Given the description of an element on the screen output the (x, y) to click on. 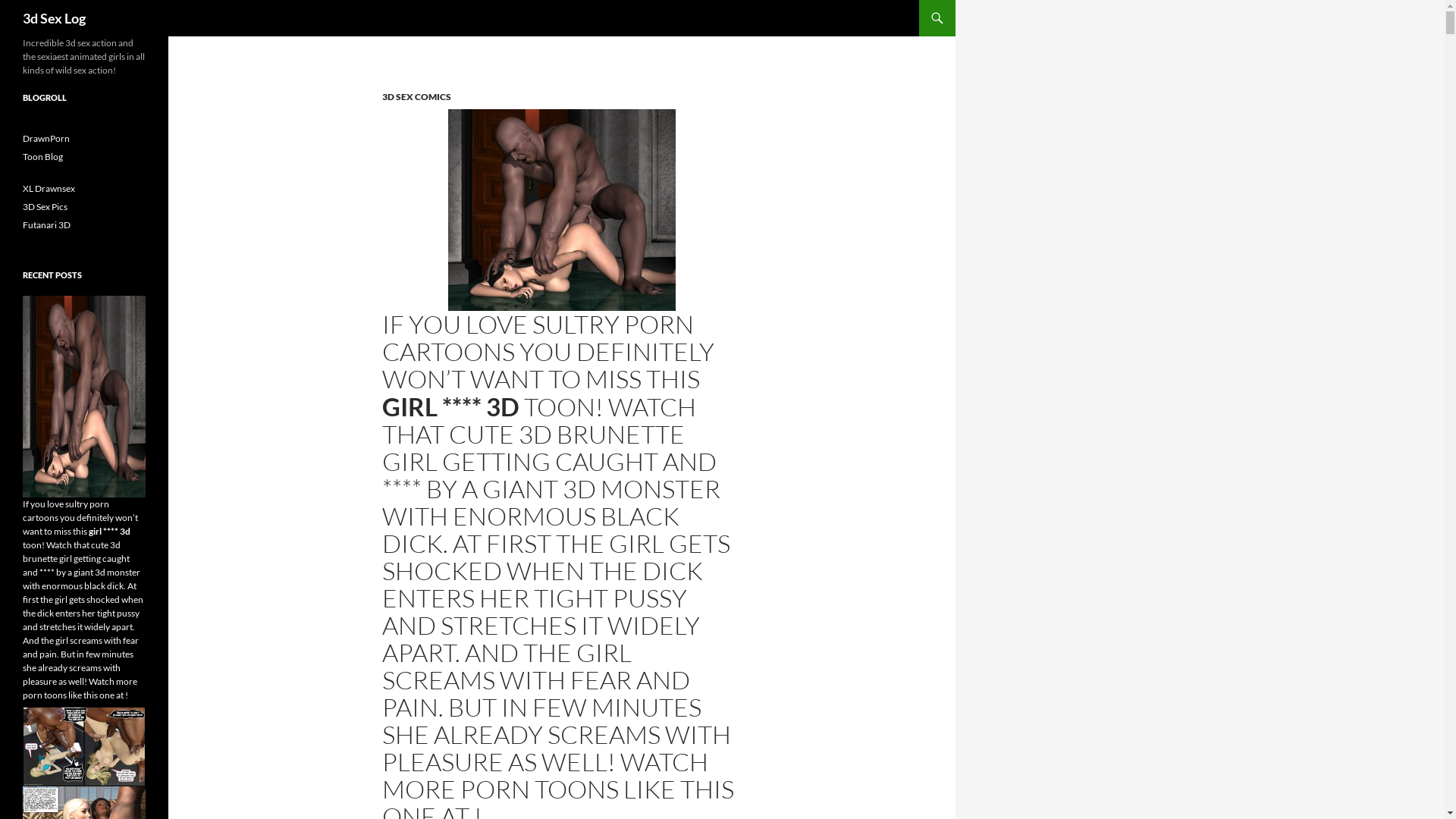
black monster cock stretches a cute brunette girl Element type: hover (83, 396)
Toon Blog Element type: text (42, 156)
3D Sex Pics Element type: text (44, 206)
3d Sex Log Element type: text (53, 18)
Futanari 3D Element type: text (46, 224)
XL Drawnsex Element type: text (48, 188)
black monster cock stretches a cute brunette girl Element type: hover (561, 209)
DrawnPorn Element type: text (45, 138)
3D SEX COMICS Element type: text (416, 96)
